Given the description of an element on the screen output the (x, y) to click on. 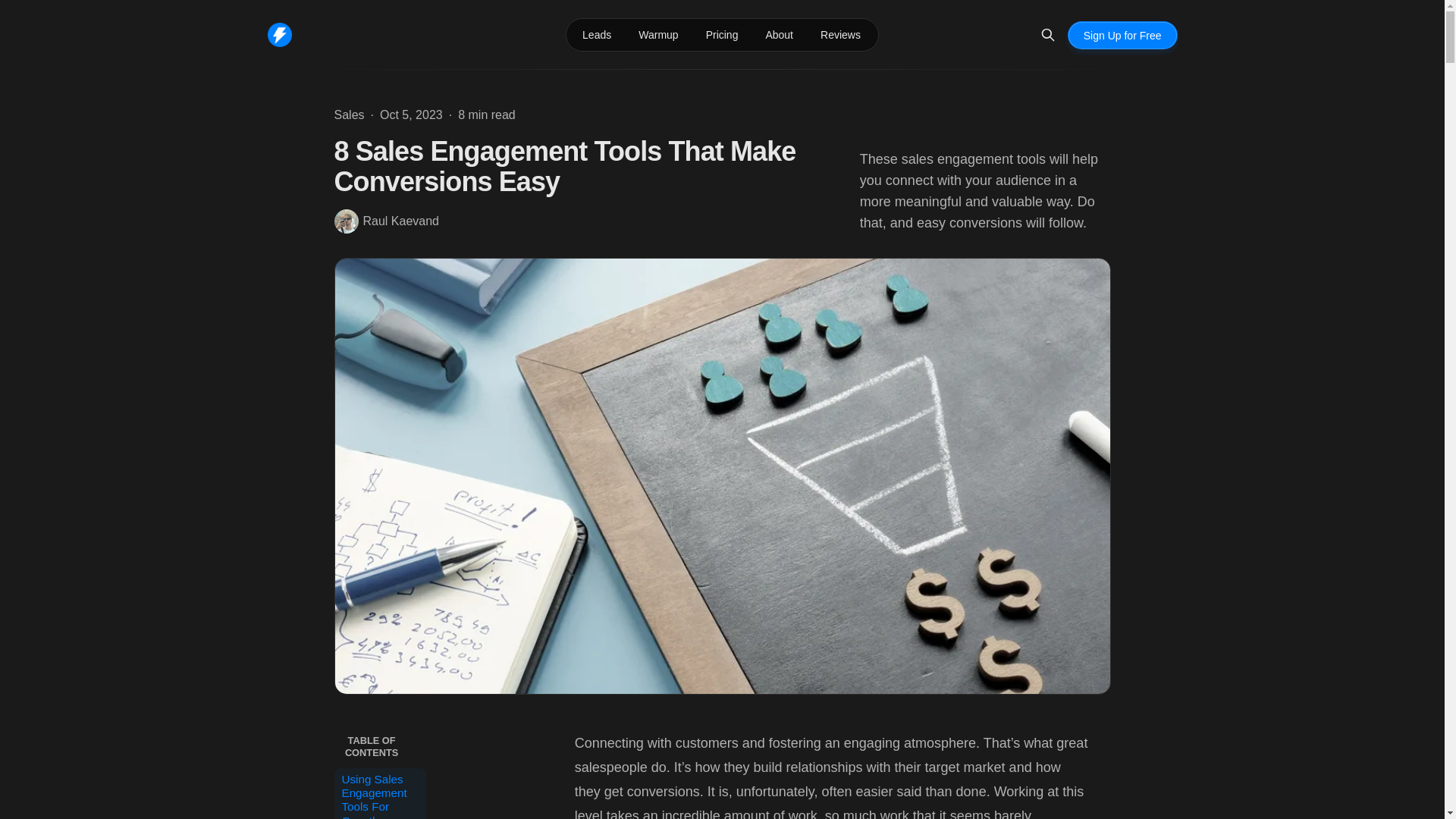
Sign Up for Free (1122, 35)
Warmup (658, 34)
Raul Kaevand (386, 221)
Pricing (722, 34)
TABLE OF CONTENTS (379, 746)
Sales (348, 115)
Reviews (840, 34)
Search (1047, 34)
Using Sales Engagement Tools For Growth (379, 793)
About (778, 34)
Leads (596, 34)
